Given the description of an element on the screen output the (x, y) to click on. 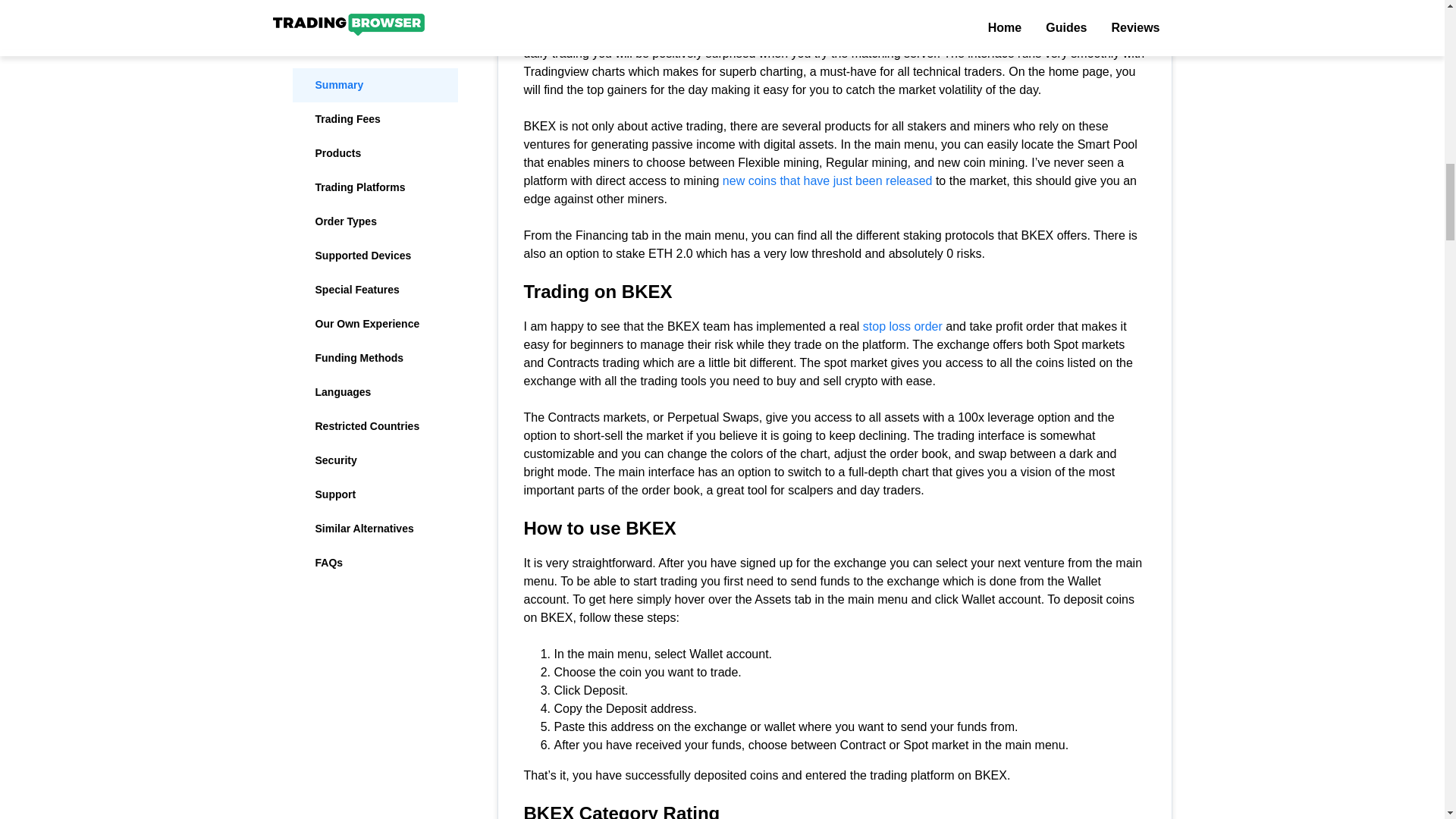
stop loss order (902, 326)
new coins that have just been released (827, 180)
